Given the description of an element on the screen output the (x, y) to click on. 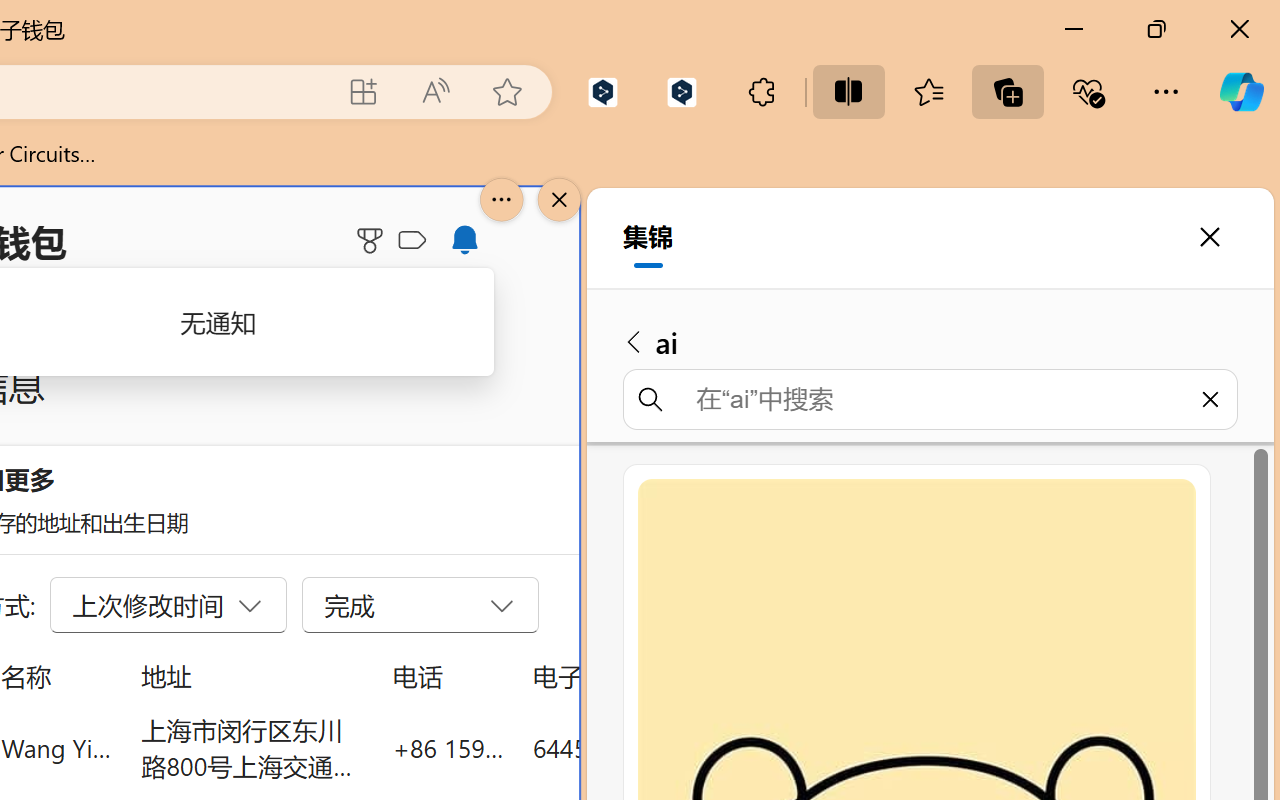
+86 159 0032 4640 (447, 747)
Microsoft Rewards (373, 240)
644553698@qq.com (644, 747)
Class: ___1lmltc5 f1agt3bx f12qytpq (411, 241)
Copilot (Ctrl+Shift+.) (1241, 91)
